Given the description of an element on the screen output the (x, y) to click on. 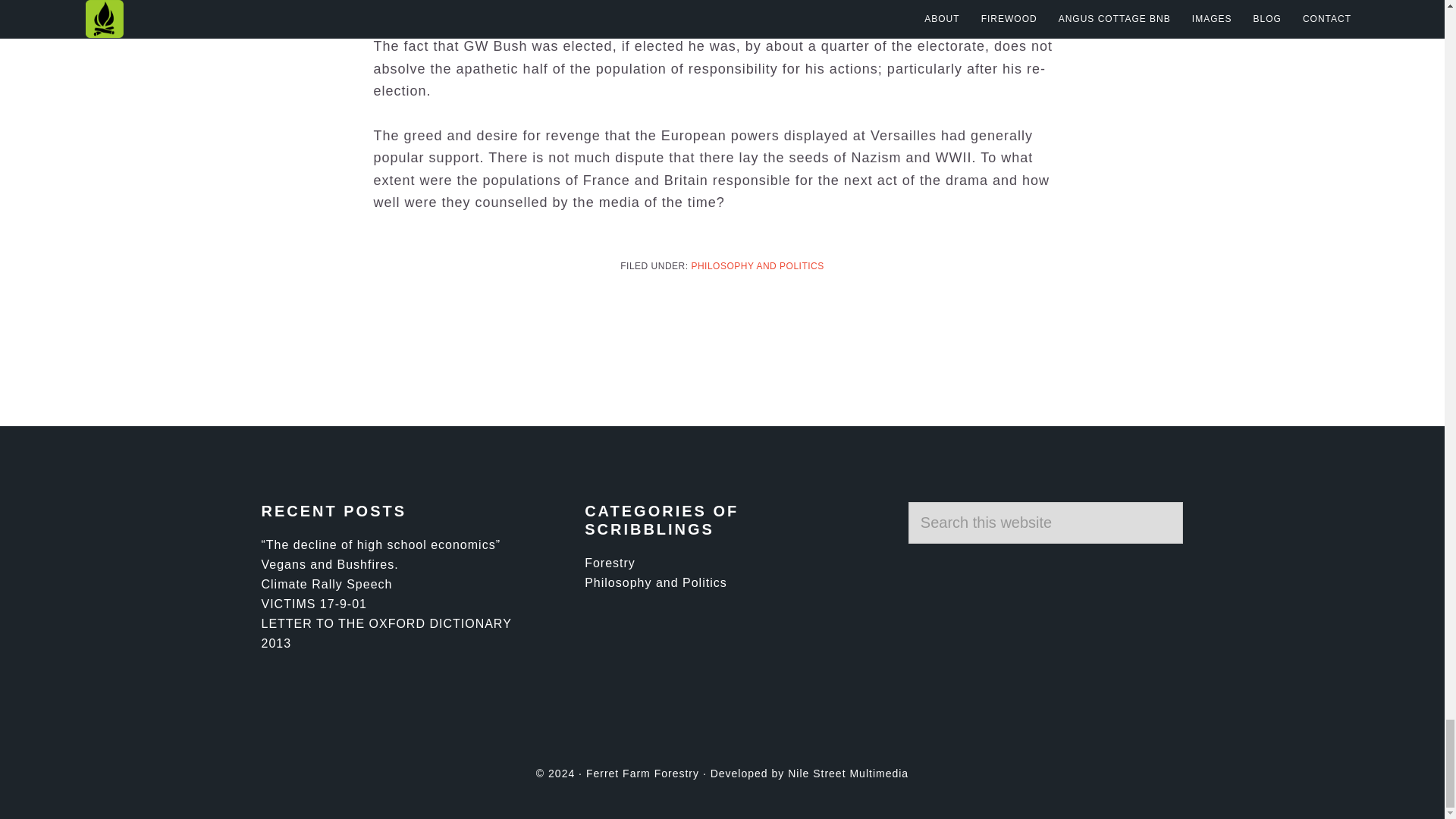
VICTIMS 17-9-01 (313, 603)
Ferret Farm Forestry (642, 773)
Forestry (609, 562)
LETTER TO THE OXFORD DICTIONARY 2013 (385, 633)
PHILOSOPHY AND POLITICS (757, 266)
Philosophy and Politics (655, 582)
Vegans and Bushfires. (328, 563)
Climate Rally Speech (325, 584)
Nile Street Multimedia (847, 773)
